Given the description of an element on the screen output the (x, y) to click on. 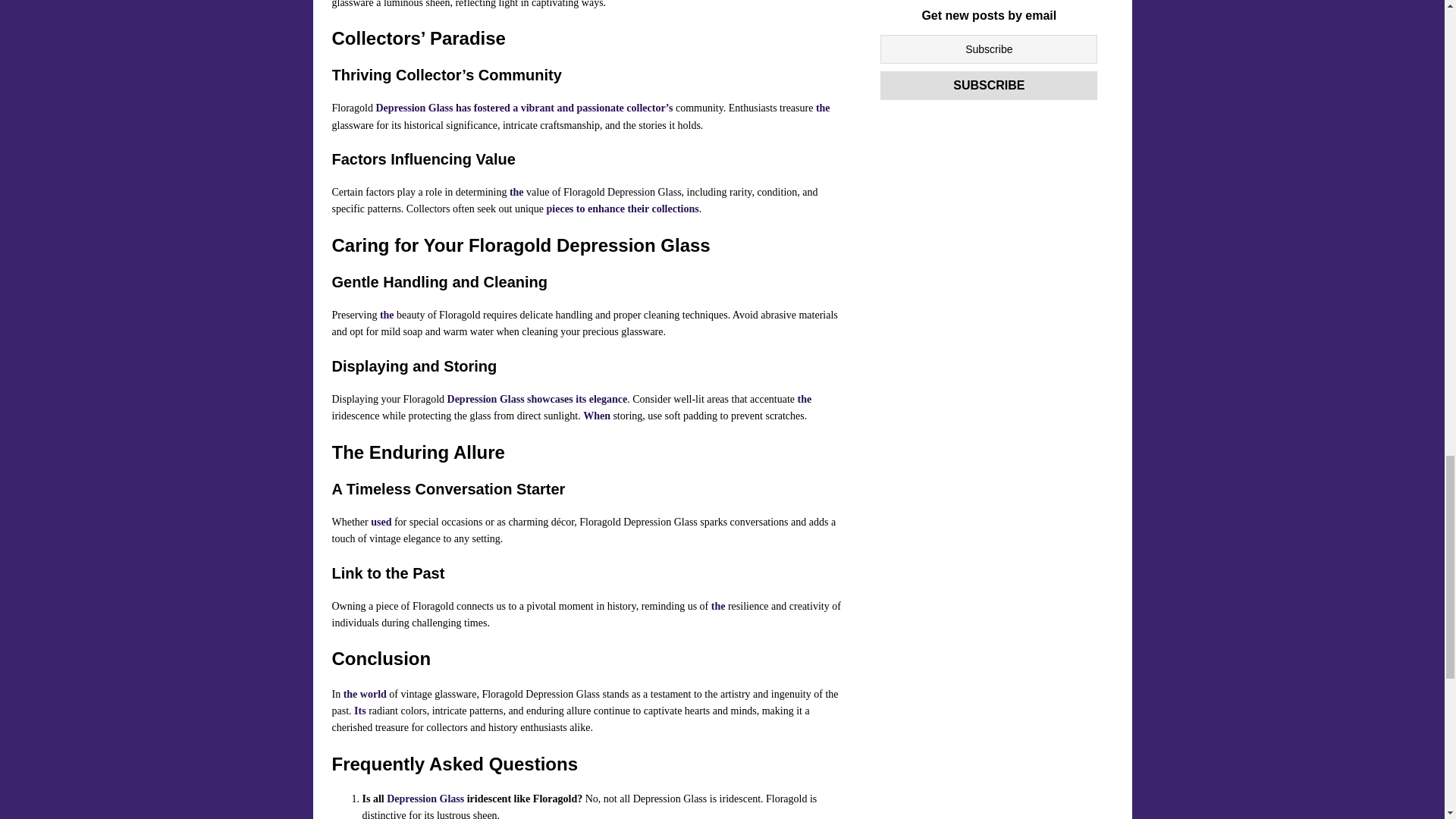
the (516, 192)
pieces to enhance their collections (622, 208)
the (822, 107)
Subscribe (988, 85)
